Given the description of an element on the screen output the (x, y) to click on. 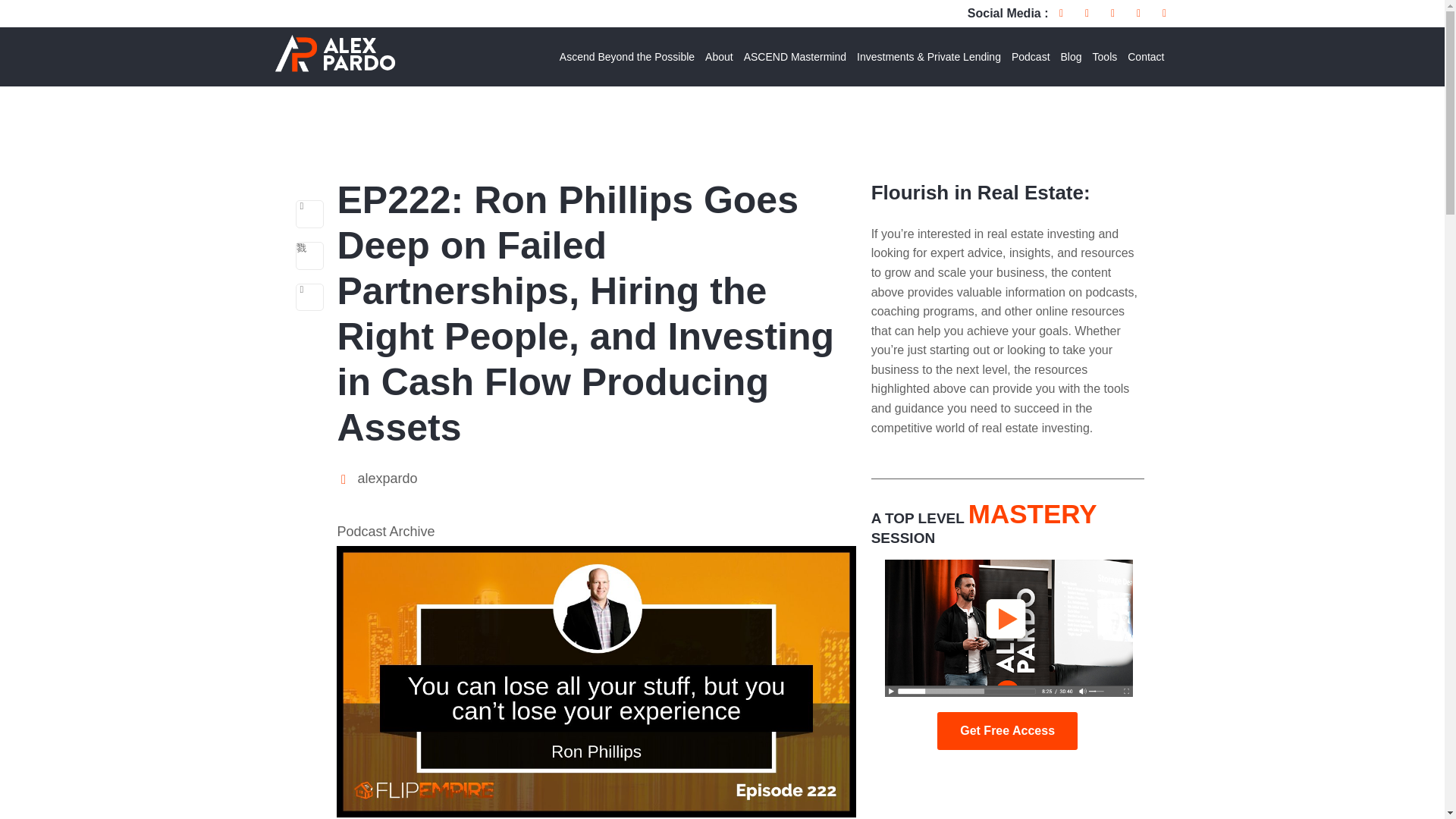
Contact (1145, 56)
Podcast (1030, 56)
ASCEND Mastermind (794, 56)
Ascend Beyond the Possible (627, 56)
Get Free Access (1007, 730)
